Given the description of an element on the screen output the (x, y) to click on. 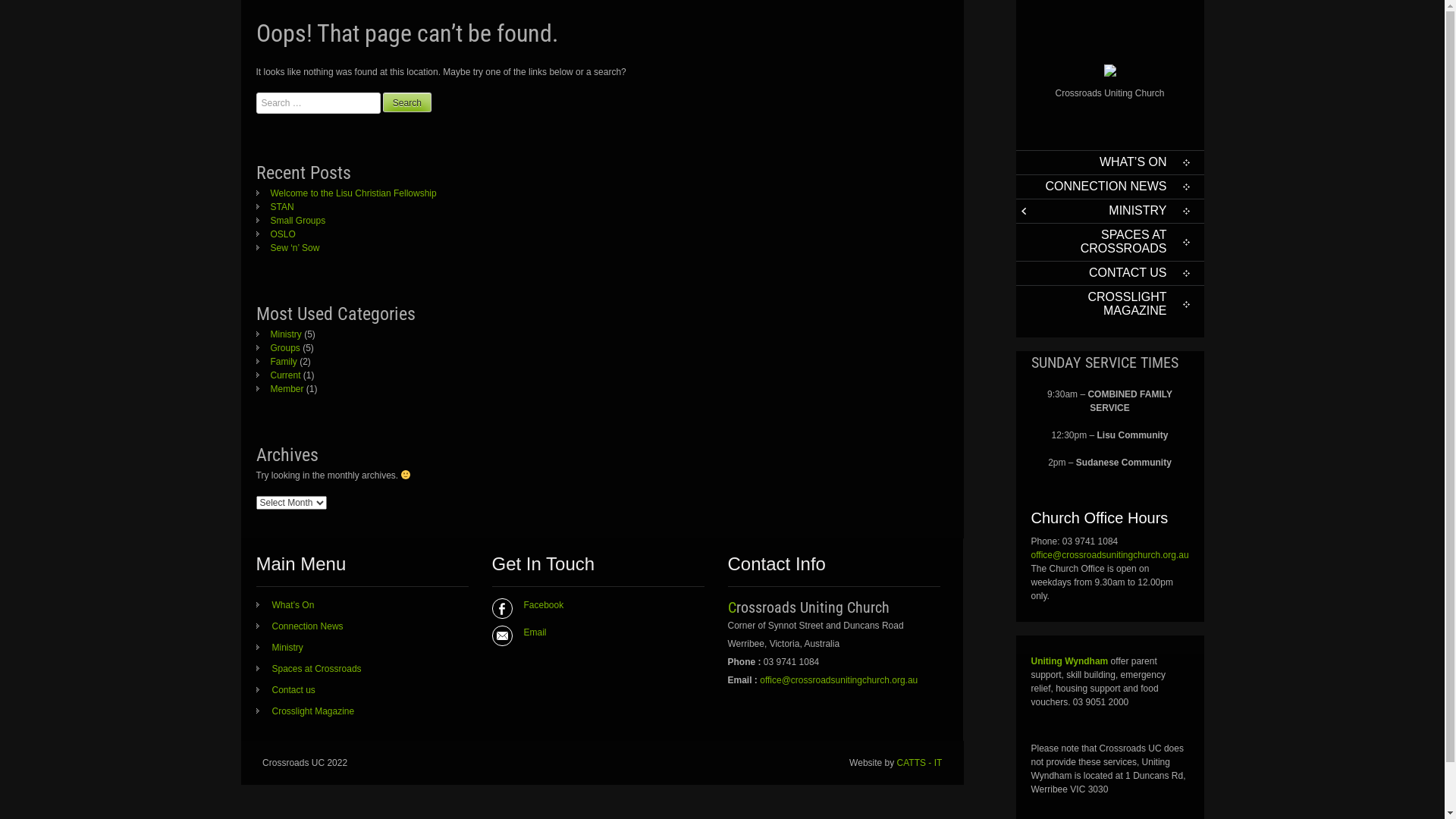
office@crossroadsunitingchurch.org.au Element type: text (1110, 554)
Search Element type: text (406, 102)
Crosslight Magazine Element type: text (305, 711)
Current Element type: text (278, 375)
Email Element type: text (591, 632)
Spaces at Crossroads Element type: text (308, 668)
Facebook Element type: text (591, 604)
Member Element type: text (280, 388)
CROSSLIGHT MAGAZINE Element type: text (1110, 303)
CONTACT US Element type: text (1110, 272)
office@crossroadsunitingchurch.org.au Element type: text (838, 679)
MINISTRY Element type: text (1110, 210)
Ministry Element type: text (278, 334)
SPACES AT CROSSROADS Element type: text (1110, 241)
STAN Element type: text (275, 206)
CATTS - IT Element type: text (919, 762)
Connection News Element type: text (299, 626)
Groups Element type: text (278, 347)
Family Element type: text (276, 361)
OSLO Element type: text (275, 234)
CONNECTION NEWS Element type: text (1110, 186)
Welcome to the Lisu Christian Fellowship Element type: text (346, 193)
Contact us Element type: text (285, 689)
Ministry Element type: text (279, 647)
SKIP TO CONTENT Element type: text (1043, 169)
Small Groups Element type: text (291, 220)
Uniting Wyndham Element type: text (1069, 660)
